Given the description of an element on the screen output the (x, y) to click on. 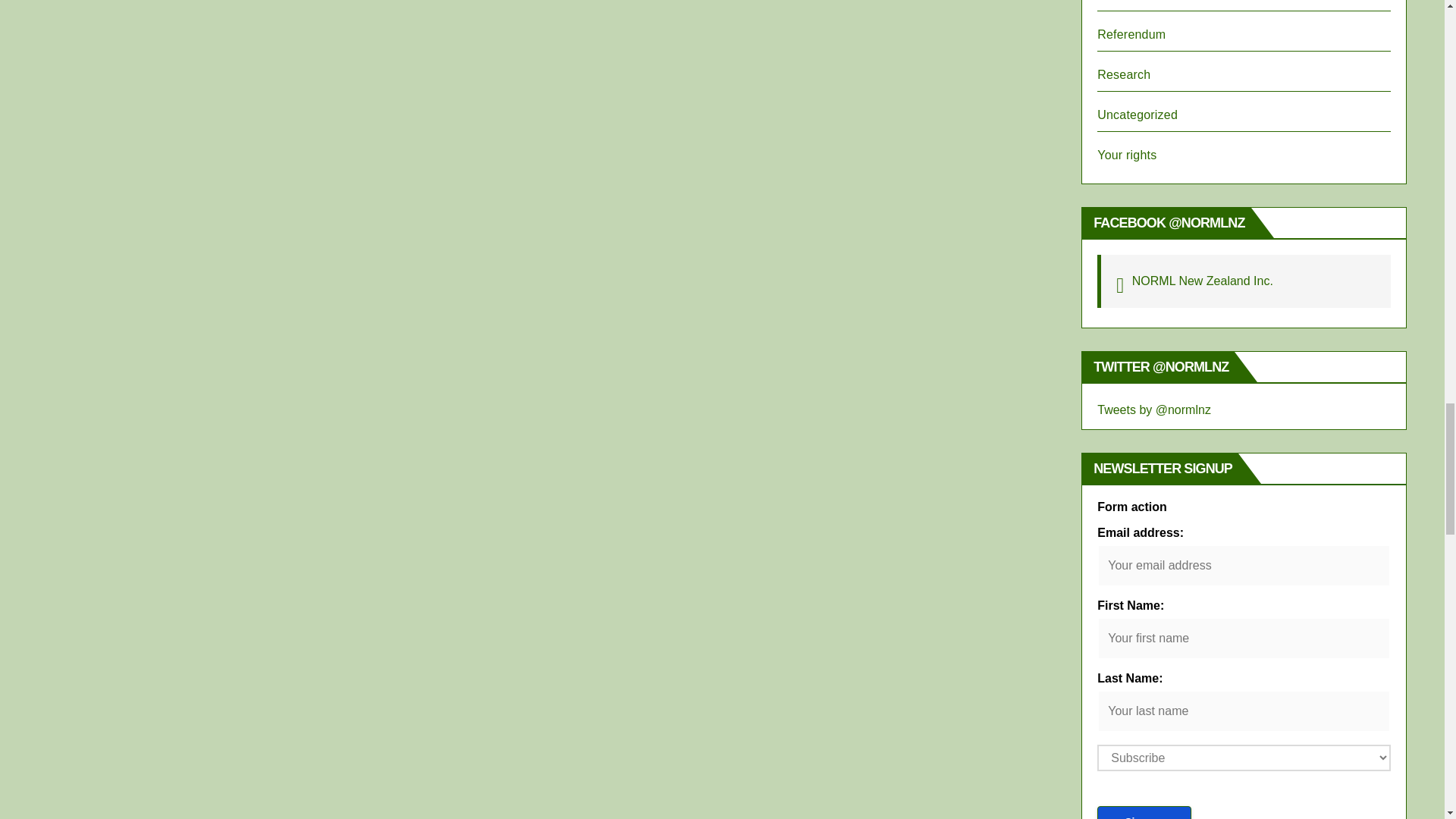
Sign up (1144, 812)
